Given the description of an element on the screen output the (x, y) to click on. 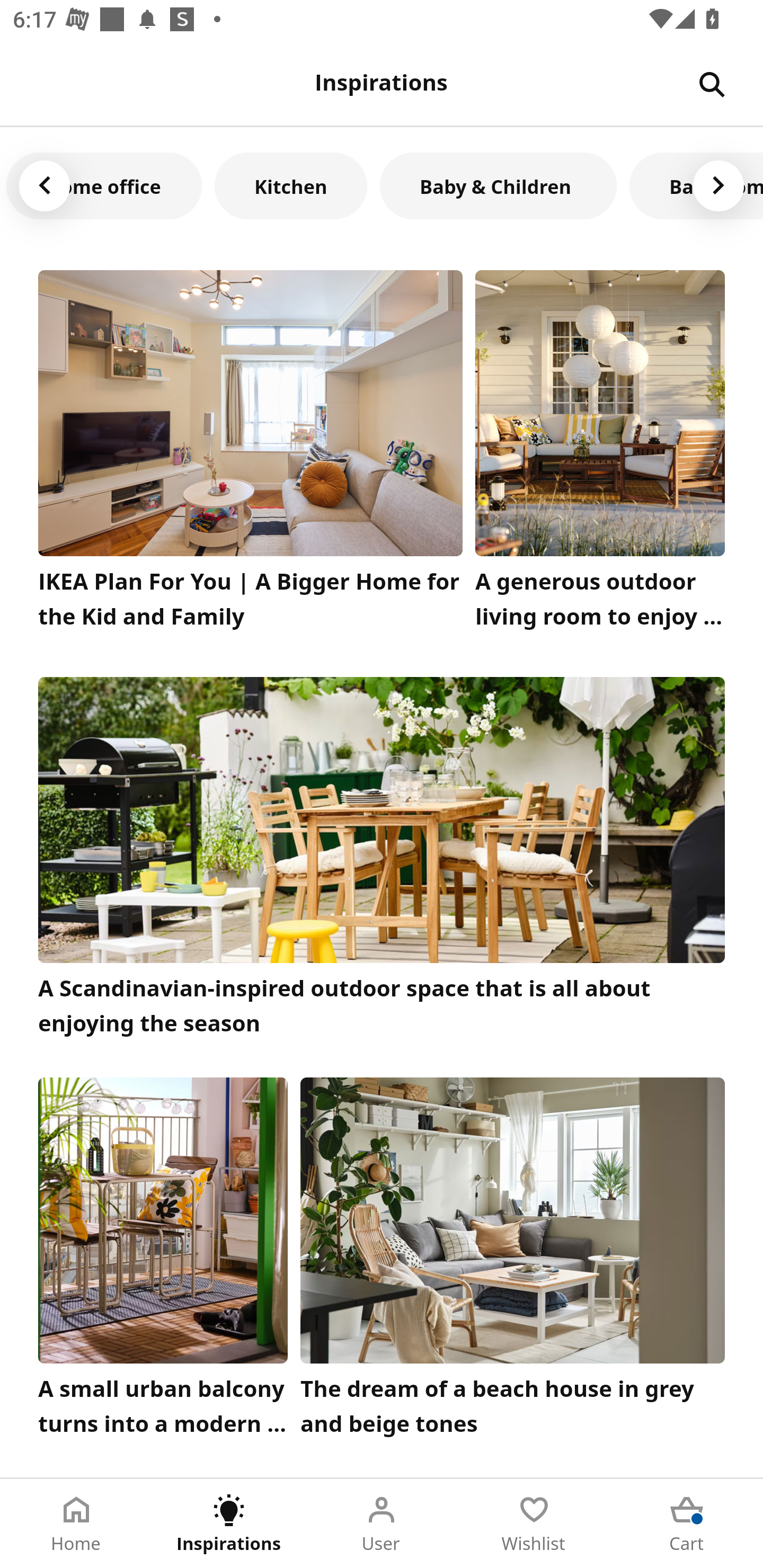
Home office (104, 185)
Kitchen (290, 185)
Baby & Children  (497, 185)
The dream of a beach house in grey and beige tones (512, 1261)
Home
Tab 1 of 5 (76, 1522)
Inspirations
Tab 2 of 5 (228, 1522)
User
Tab 3 of 5 (381, 1522)
Wishlist
Tab 4 of 5 (533, 1522)
Cart
Tab 5 of 5 (686, 1522)
